Given the description of an element on the screen output the (x, y) to click on. 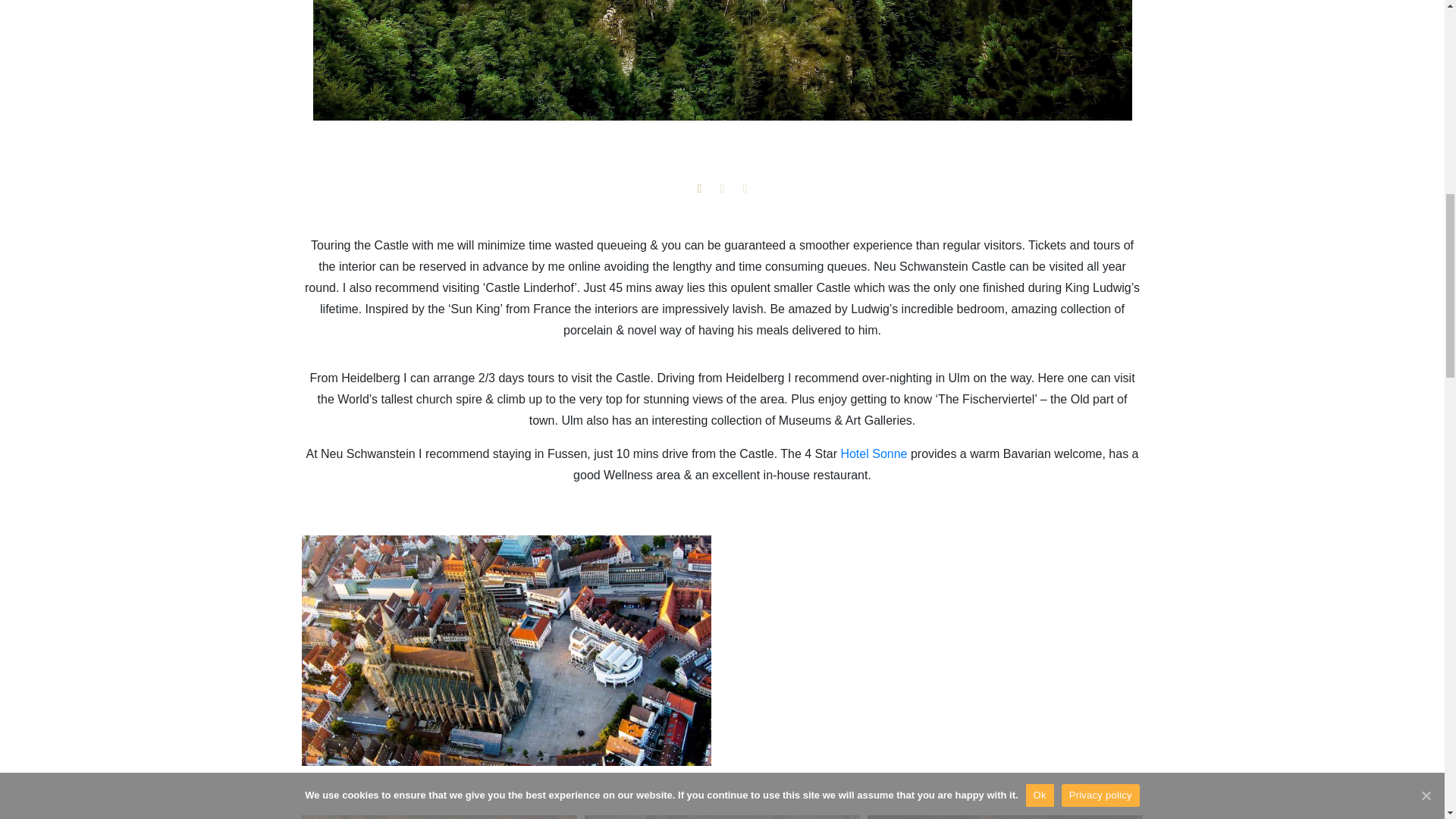
FareHarbor (1342, 64)
